Given the description of an element on the screen output the (x, y) to click on. 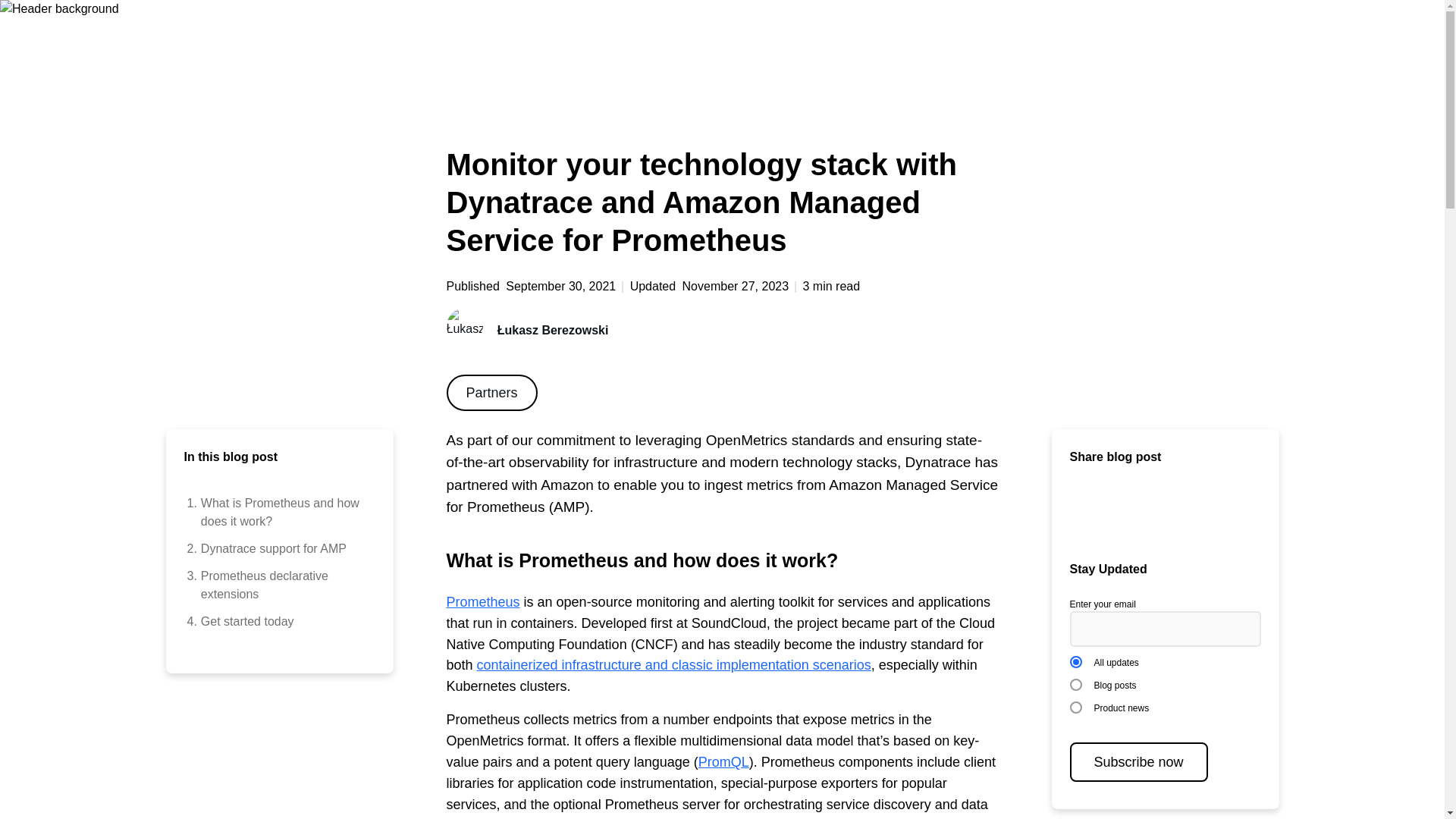
Subscribe now (1137, 762)
Email (1081, 510)
LinkedIn (274, 512)
Partners (274, 585)
X (274, 621)
Facebook (1179, 510)
PromQL (491, 392)
Prometheus (274, 548)
